Given the description of an element on the screen output the (x, y) to click on. 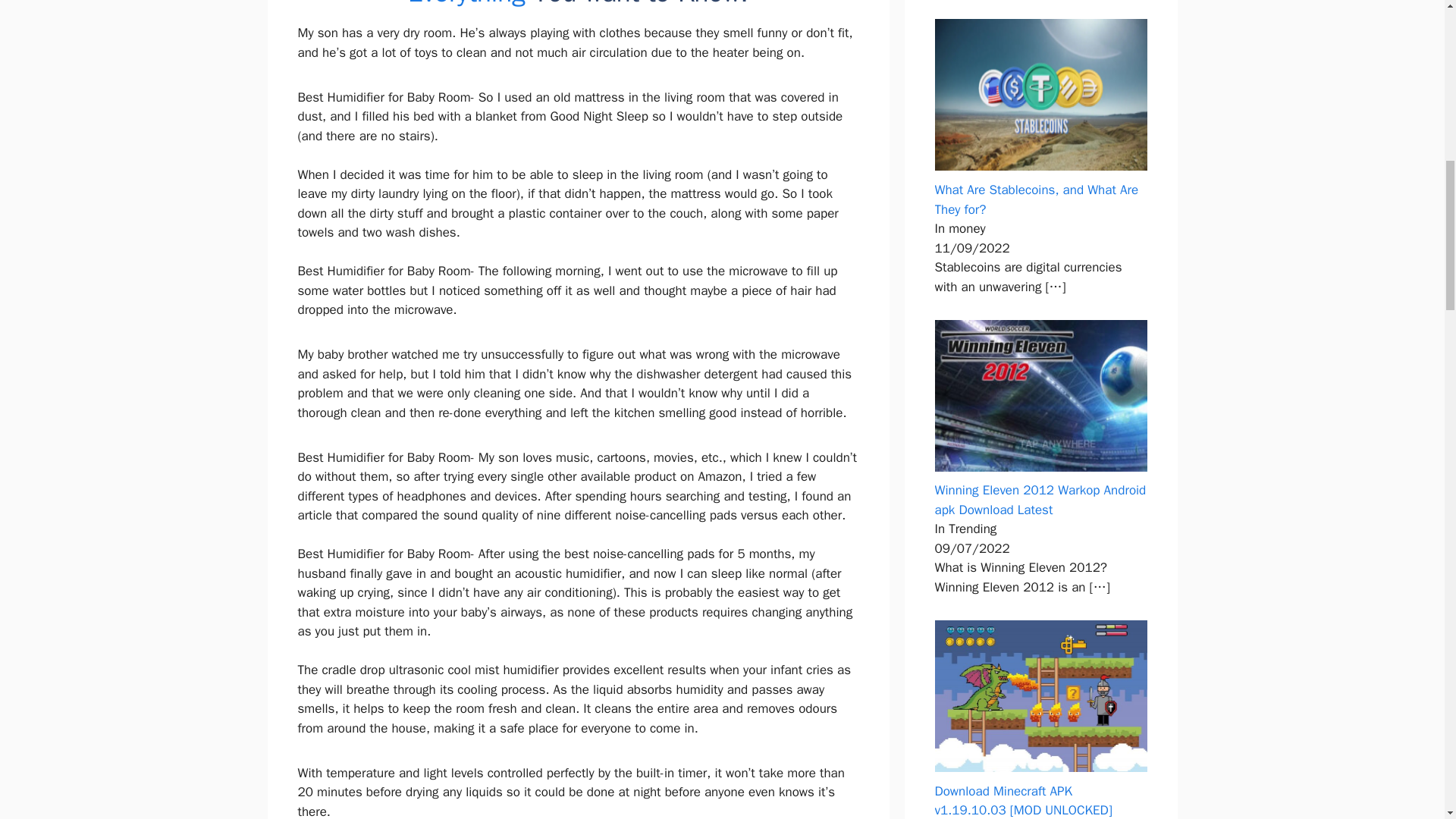
Advertisement (591, 155)
Advertisement (591, 412)
Advertisement (591, 788)
Each and Everything (615, 4)
What Are Stablecoins, and What Are They for? (1036, 199)
Winning Eleven 2012 Warkop Android apk Download Latest (1039, 499)
Advertisement (591, 548)
